Given the description of an element on the screen output the (x, y) to click on. 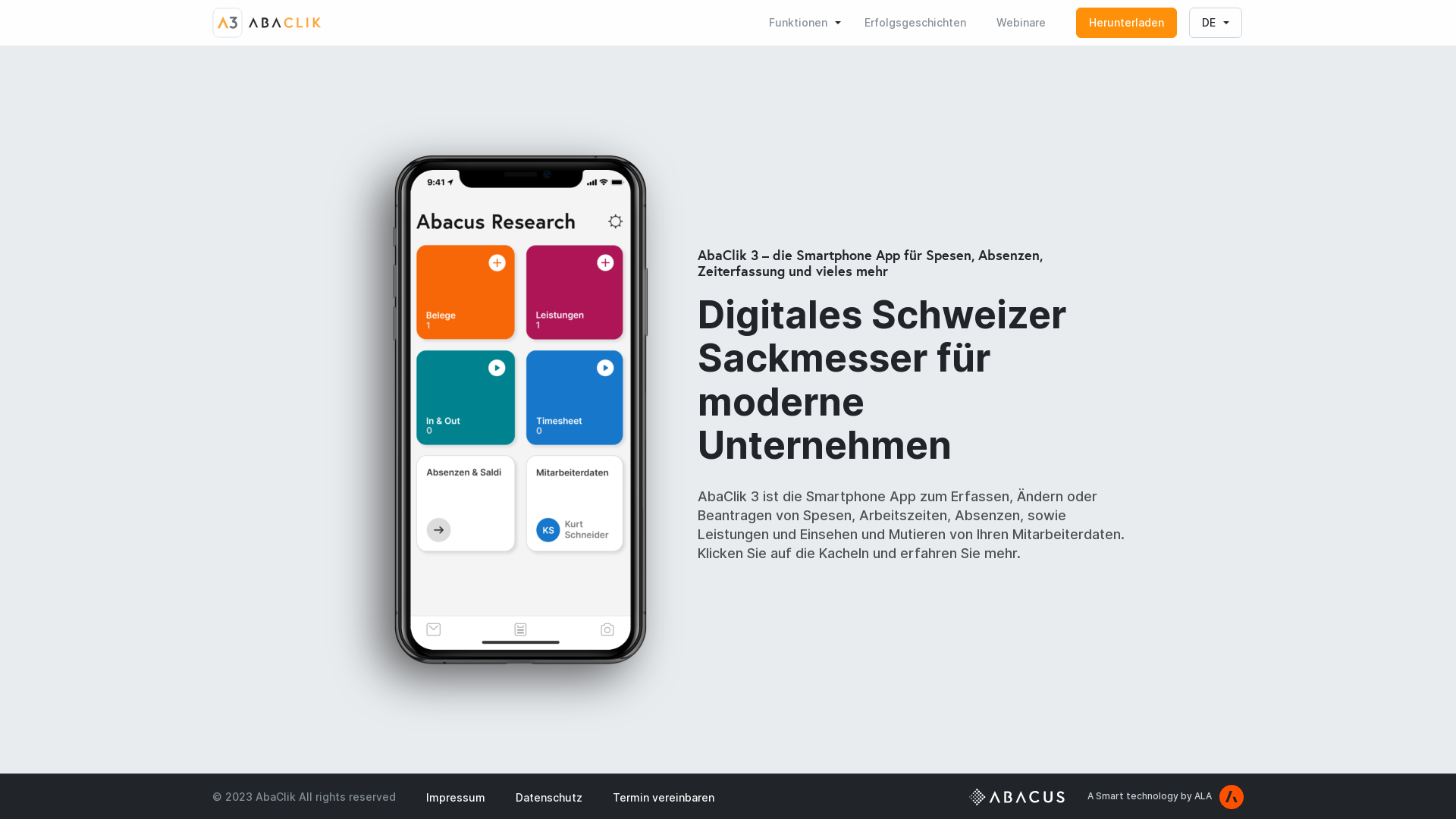
Erfolgsgeschichten Element type: text (915, 21)
Impressum Element type: text (455, 796)
Webinare Element type: text (1020, 21)
DE Element type: text (1215, 22)
Datenschutz Element type: text (548, 796)
A Smart technology by ALA Element type: text (1165, 796)
AbaClik Element type: text (266, 22)
Funktionen Element type: text (804, 22)
Herunterladen Element type: text (1126, 22)
Termin vereinbaren Element type: text (663, 796)
